Given the description of an element on the screen output the (x, y) to click on. 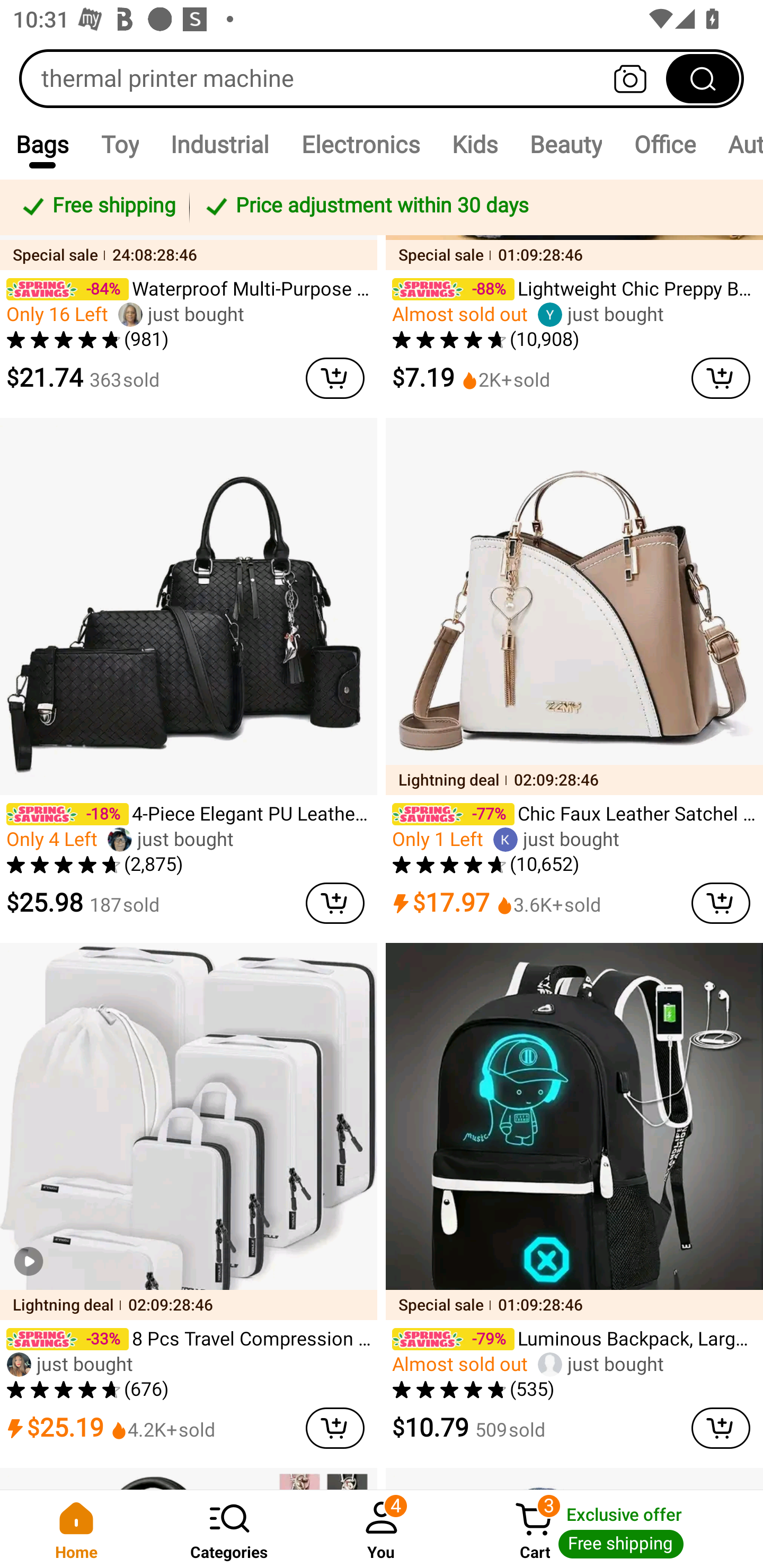
thermal printer machine (381, 78)
Bags (42, 144)
Toy (119, 144)
Industrial (219, 144)
Electronics (360, 144)
Kids (474, 144)
Beauty (565, 144)
Office (664, 144)
Free shipping (97, 206)
Price adjustment within 30 days (472, 206)
cart delete (334, 377)
cart delete (720, 377)
cart delete (334, 902)
cart delete (720, 902)
cart delete (334, 1428)
cart delete (720, 1428)
Home (76, 1528)
Categories (228, 1528)
You 4 You (381, 1528)
Cart 3 Cart Exclusive offer (610, 1528)
